Given the description of an element on the screen output the (x, y) to click on. 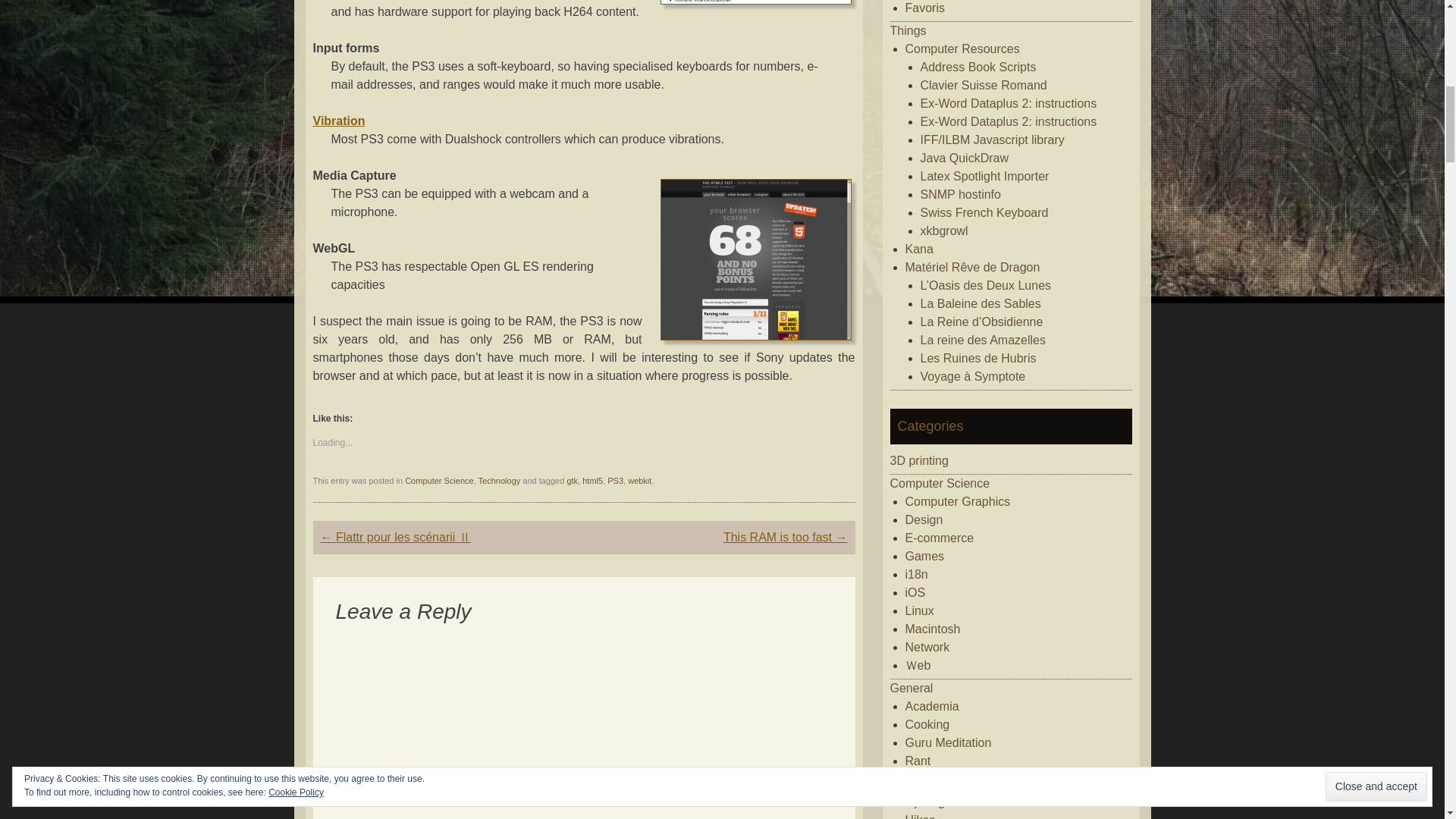
Comment Form (582, 721)
Playstation 3 Web Browser Headers (754, 2)
